Given the description of an element on the screen output the (x, y) to click on. 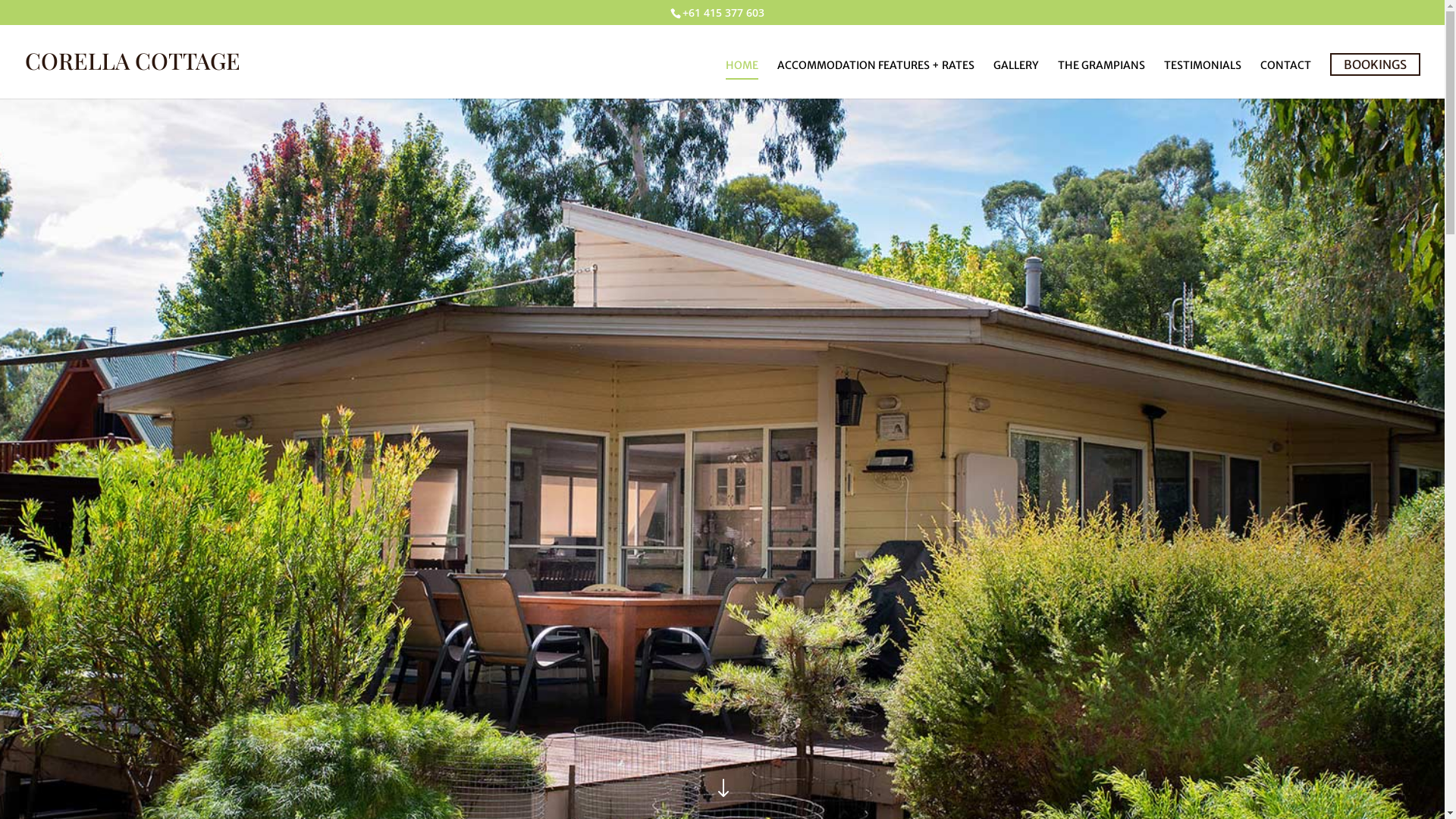
" Element type: text (721, 789)
CORELLA COTTAGE Element type: text (132, 65)
TESTIMONIALS Element type: text (1202, 78)
BOOKINGS Element type: text (1375, 64)
+61 415 377 603 Element type: text (723, 12)
THE GRAMPIANS Element type: text (1101, 78)
HOME Element type: text (741, 78)
GALLERY Element type: text (1015, 78)
ACCOMMODATION FEATURES + RATES Element type: text (875, 78)
CONTACT Element type: text (1285, 78)
